Given the description of an element on the screen output the (x, y) to click on. 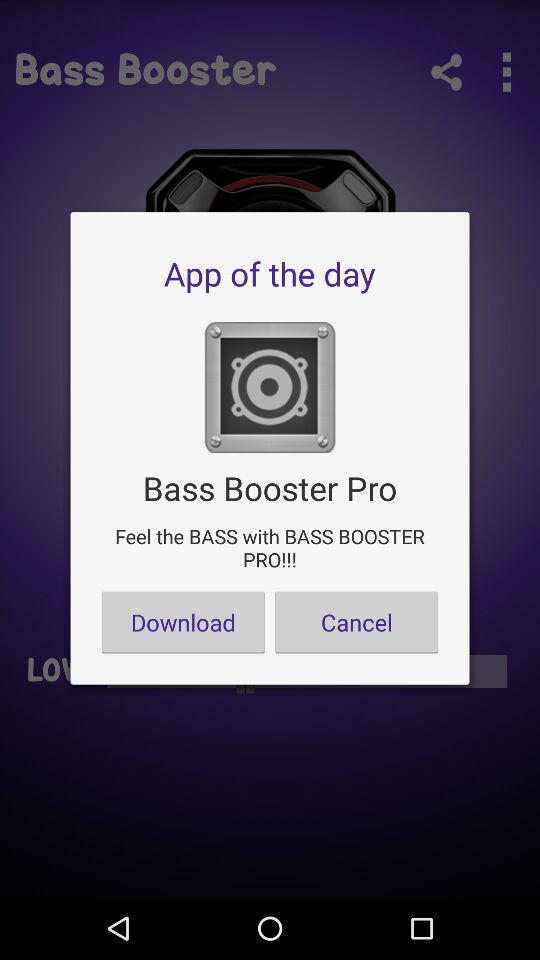
choose download icon (183, 622)
